Given the description of an element on the screen output the (x, y) to click on. 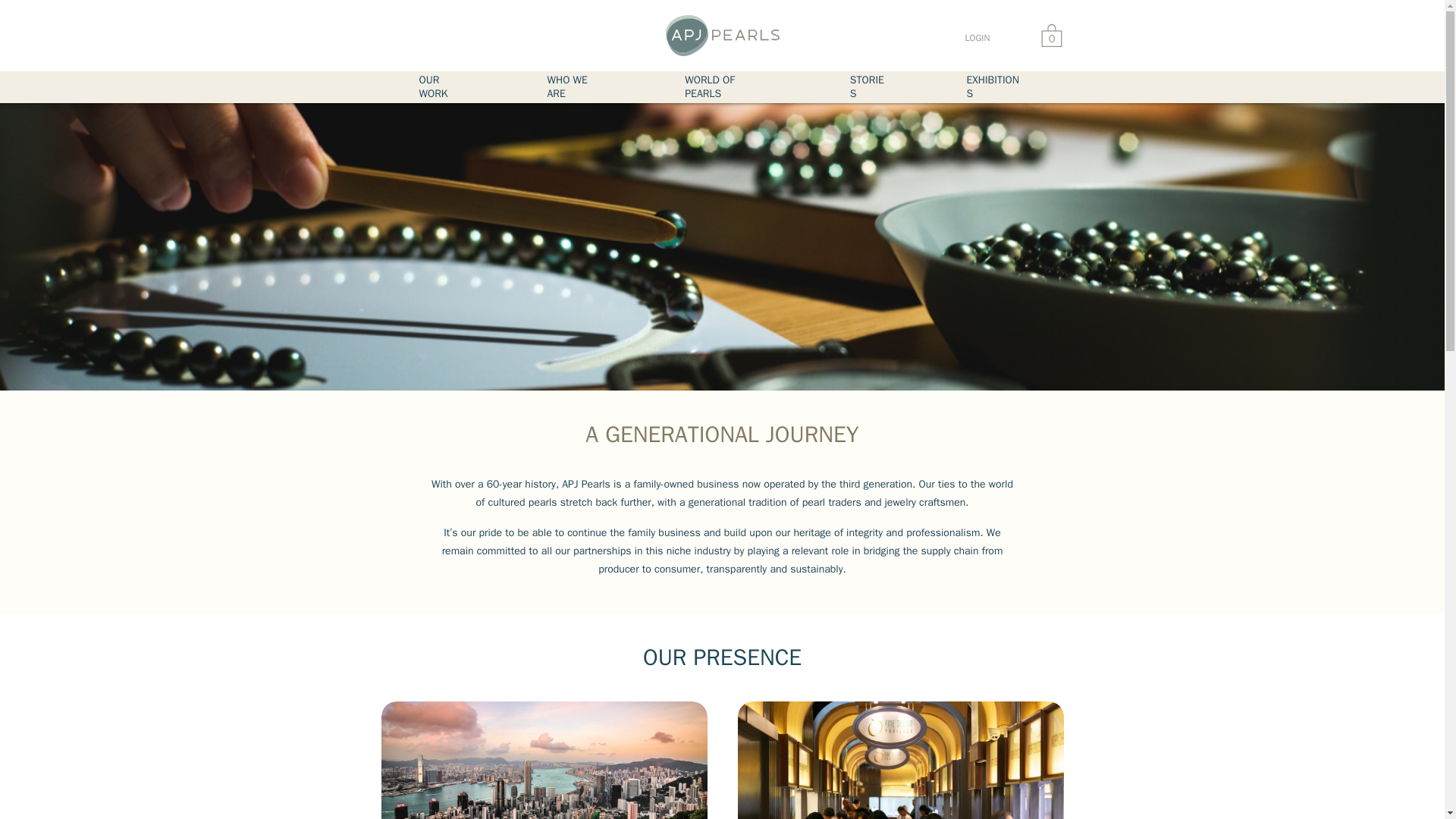
My Basket (1050, 34)
STORIES (870, 86)
EXHIBITIONS (995, 86)
0 (1050, 34)
WORLD OF PEARLS (729, 86)
WHO WE ARE (577, 86)
LOGIN (976, 38)
0 (1050, 34)
OUR WORK (444, 86)
